Given the description of an element on the screen output the (x, y) to click on. 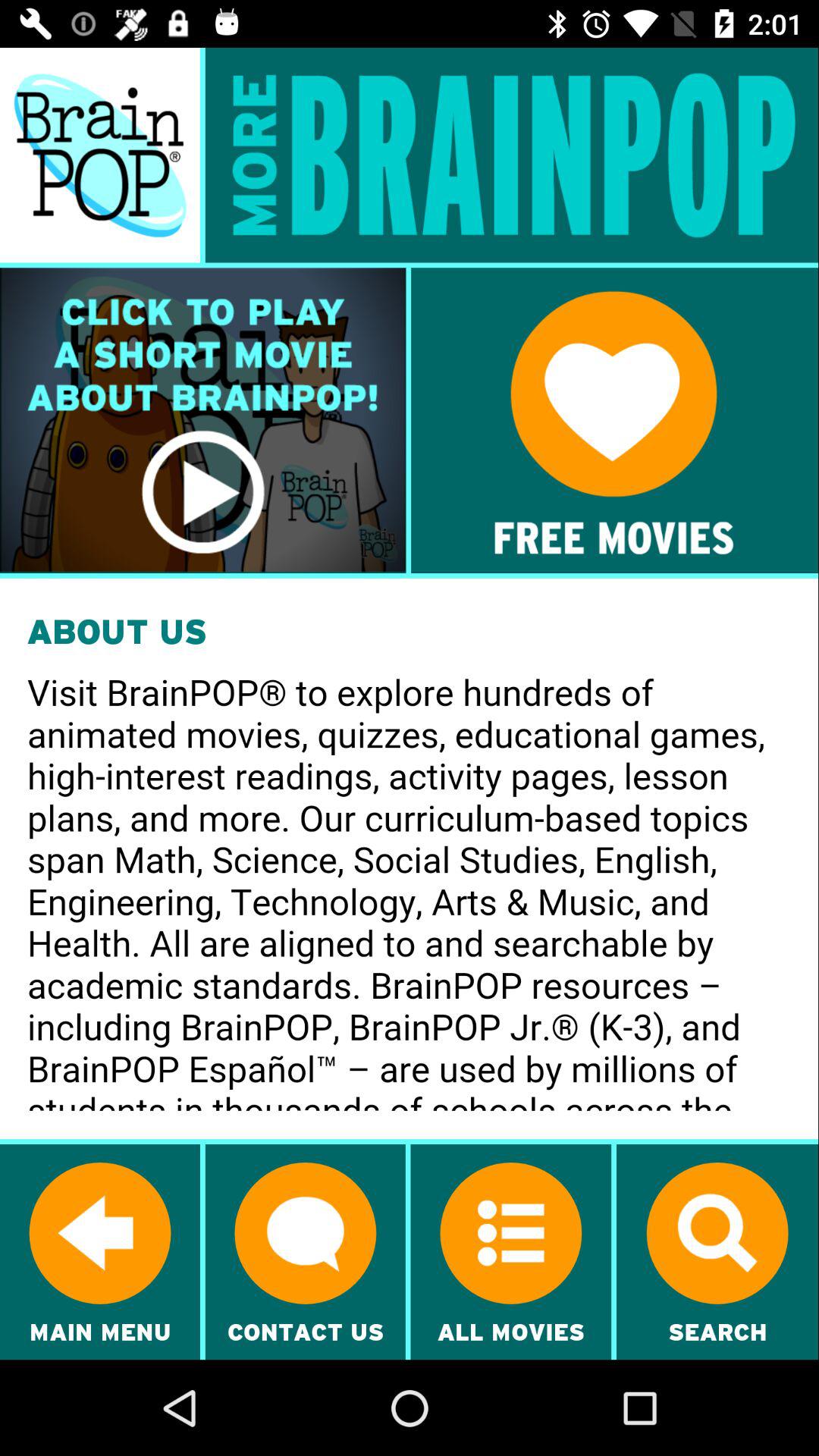
go to brain pop main page (100, 154)
